Given the description of an element on the screen output the (x, y) to click on. 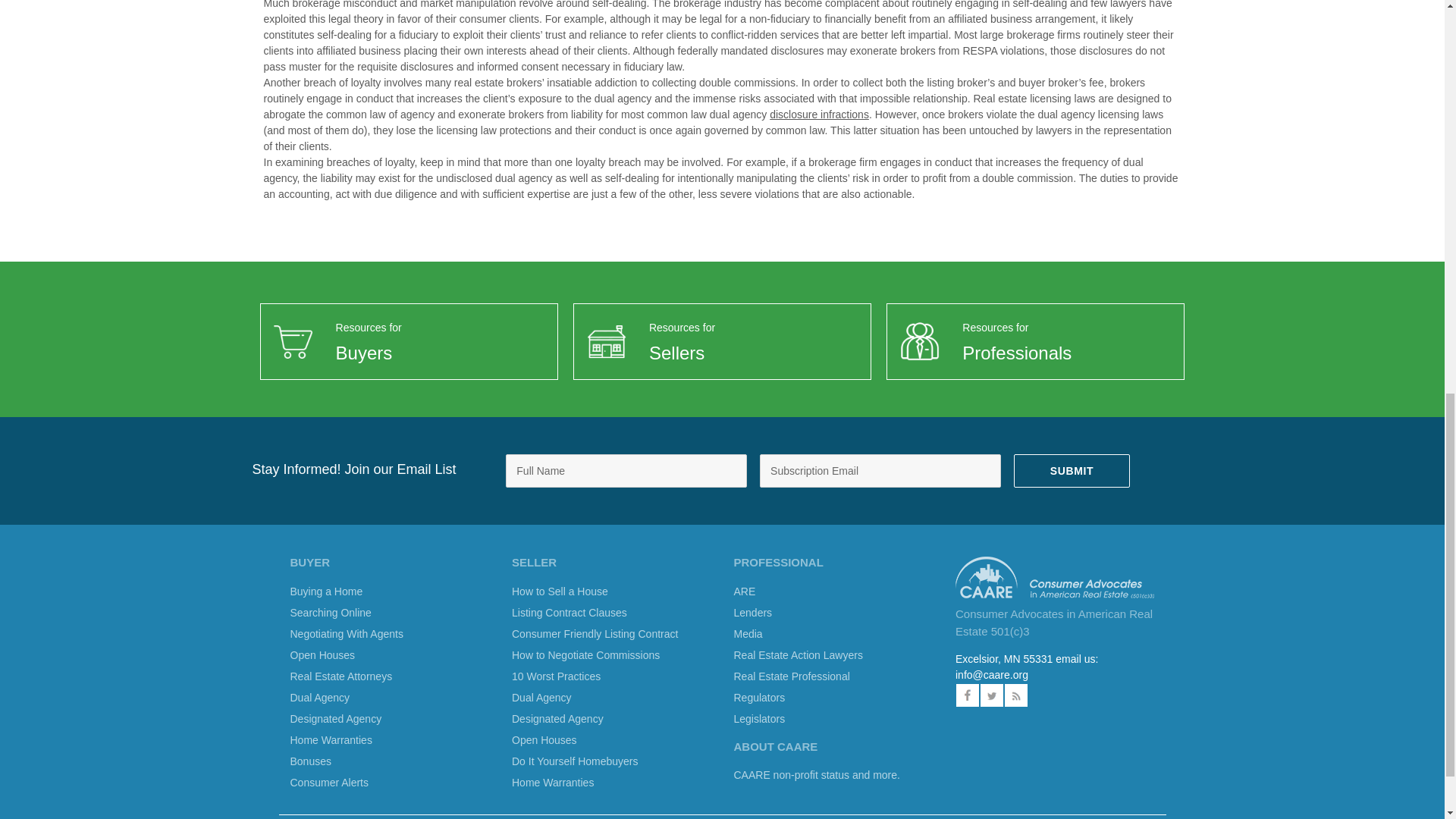
Consumer Friendly Listing Contract (595, 633)
Bonuses (309, 761)
Negotiating With Agents (346, 633)
How to Negotiate Commissions (585, 654)
Buying a Home (325, 591)
Open Houses (544, 739)
Real Estate Attorneys (340, 676)
Consumer Alerts (328, 782)
10 Worst Practices (555, 676)
Designated Agency (558, 718)
Home Warranties (330, 739)
Dual Agency (319, 697)
Listing Contract Clauses (569, 612)
SUBMIT (1071, 470)
Dual Agency (542, 697)
